Given the description of an element on the screen output the (x, y) to click on. 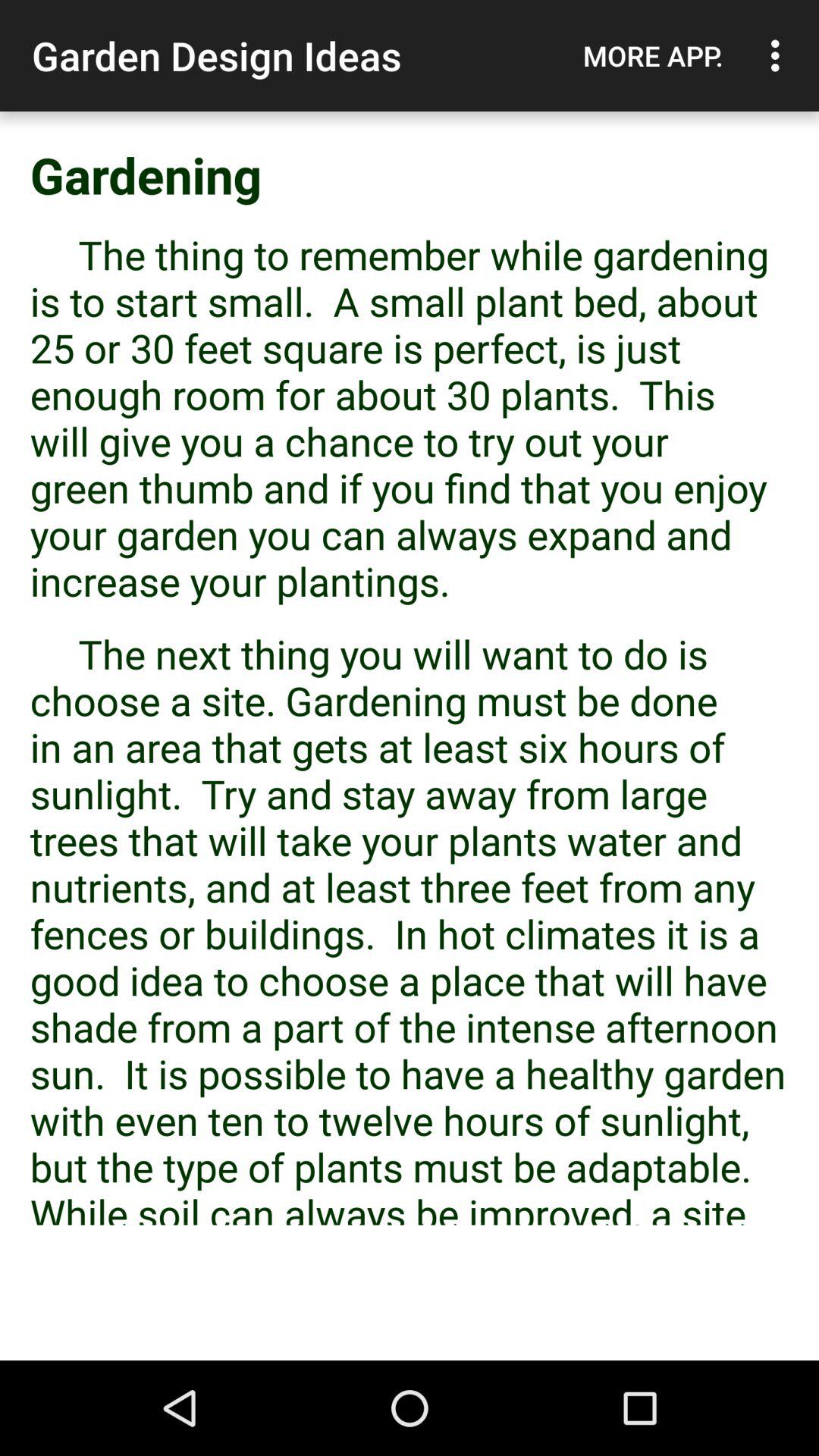
click the icon above gardening (779, 55)
